Given the description of an element on the screen output the (x, y) to click on. 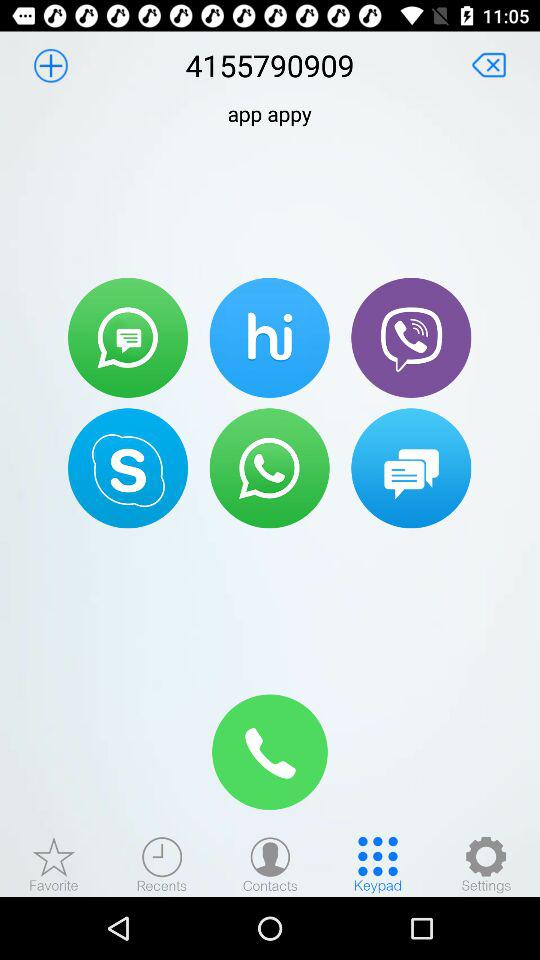
make call (269, 468)
